Given the description of an element on the screen output the (x, y) to click on. 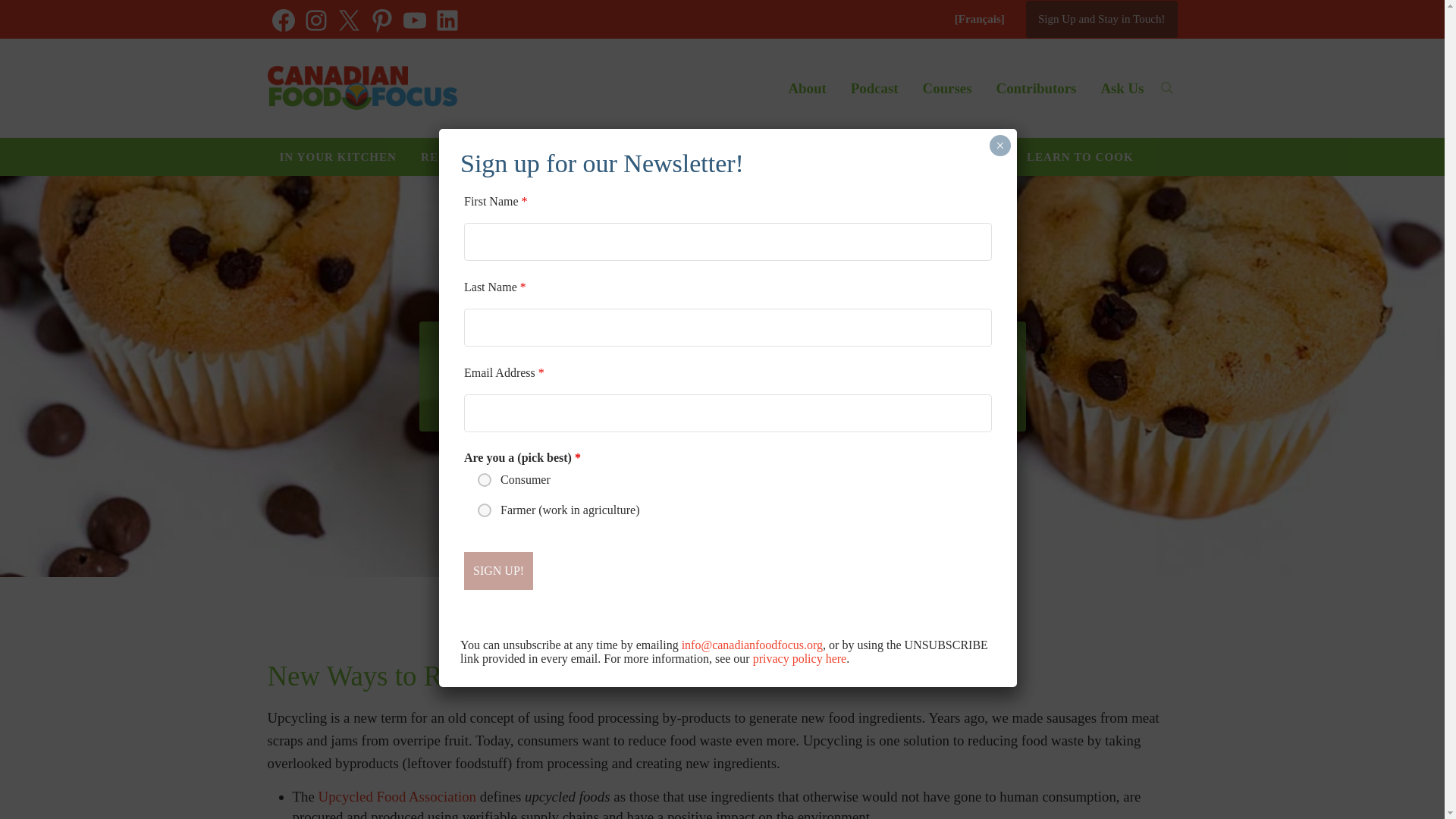
YouTube (413, 20)
ON THE FARM (811, 157)
About (807, 87)
IN YOUR KITCHEN (337, 157)
Instagram (316, 20)
HEALTH (525, 157)
Ask Us (1121, 87)
X (349, 20)
SIGN UP! (498, 570)
LinkedIn (446, 20)
Sign Up and Stay in Touch! (1101, 18)
CANADIAN FOOD STORIES (659, 157)
Pinterest (381, 20)
LEARN TO COOK (1079, 157)
